Given the description of an element on the screen output the (x, y) to click on. 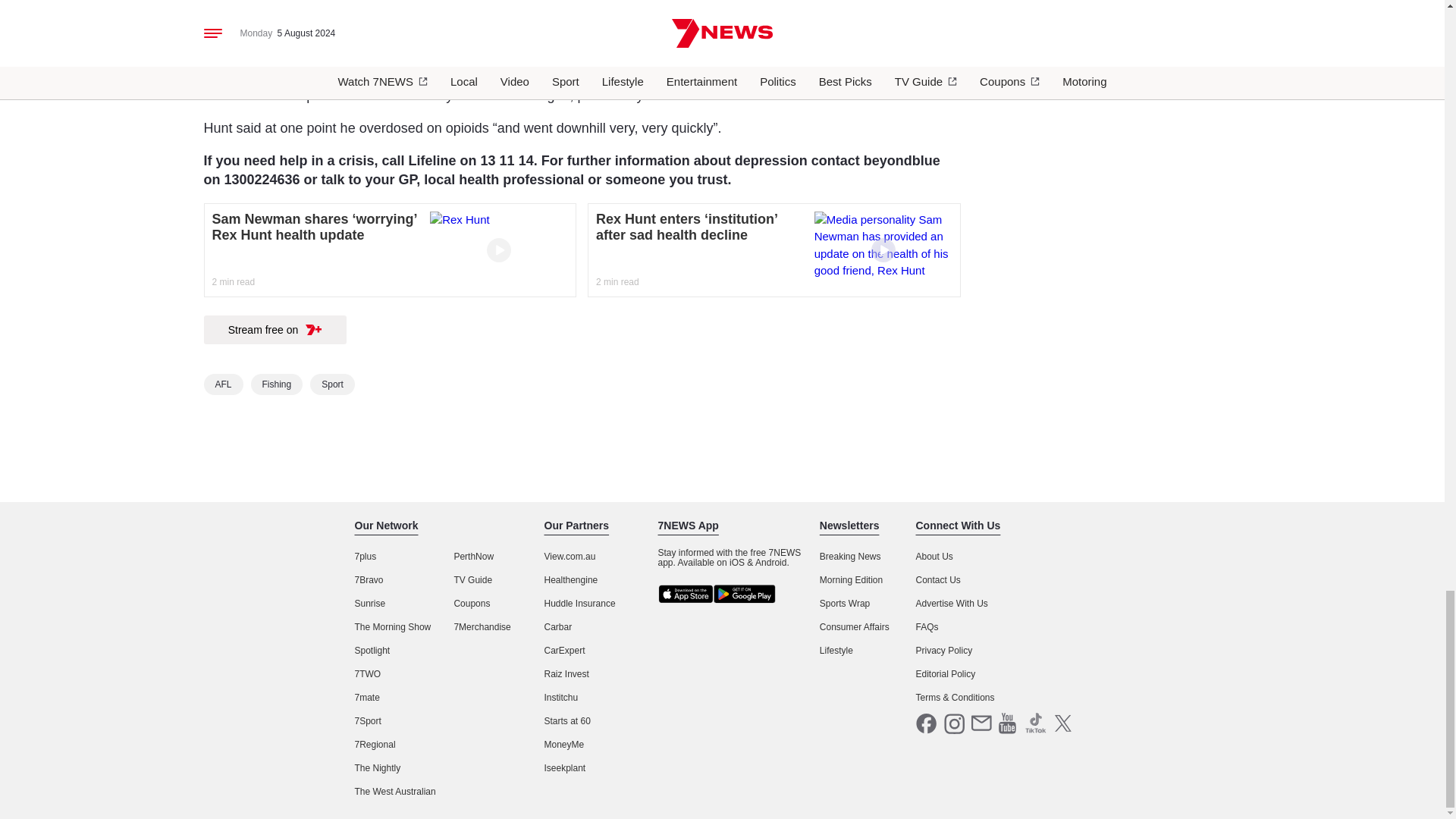
Video (498, 250)
Video (882, 250)
